Given the description of an element on the screen output the (x, y) to click on. 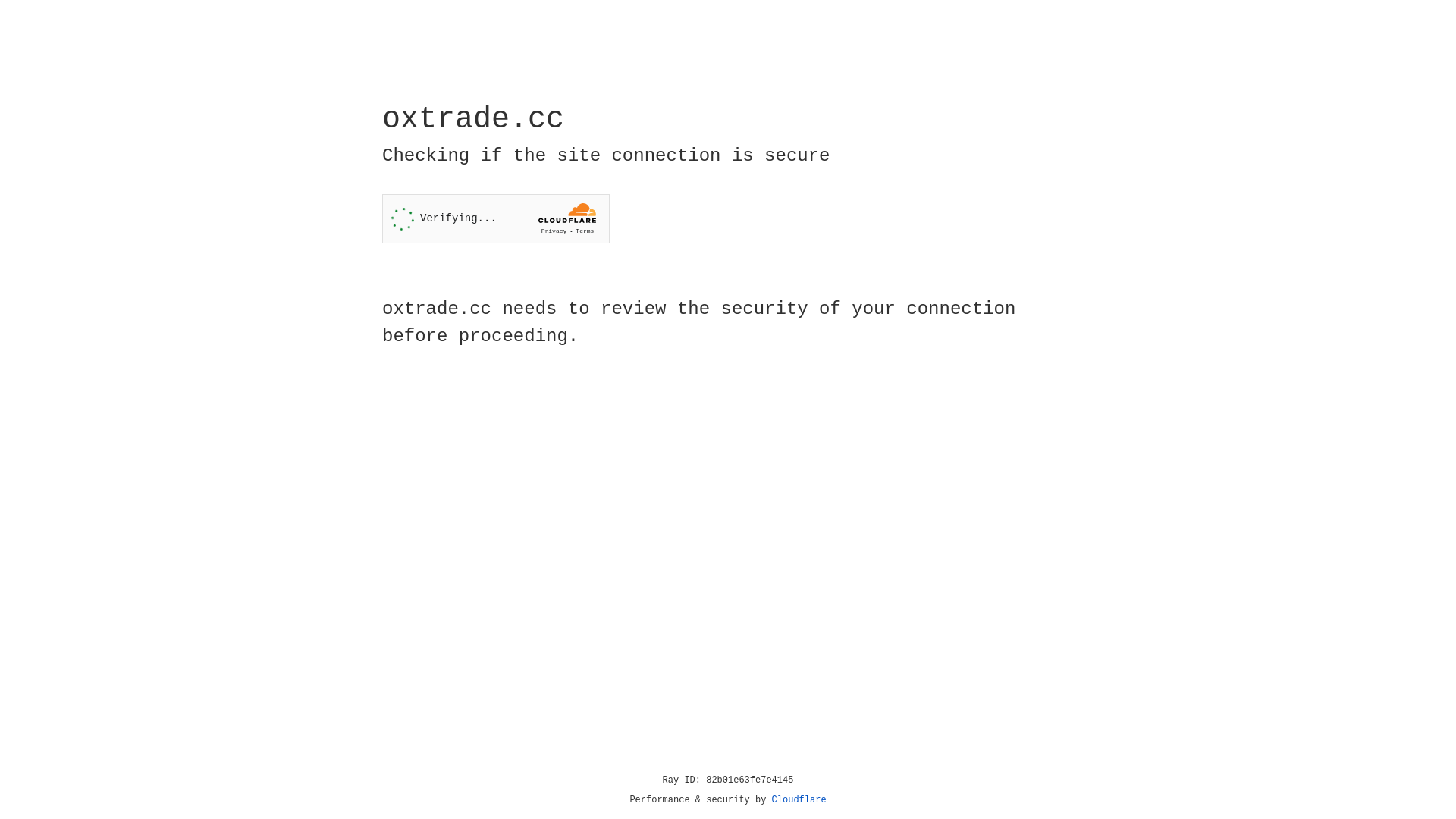
Widget containing a Cloudflare security challenge Element type: hover (495, 218)
Cloudflare Element type: text (798, 799)
